Given the description of an element on the screen output the (x, y) to click on. 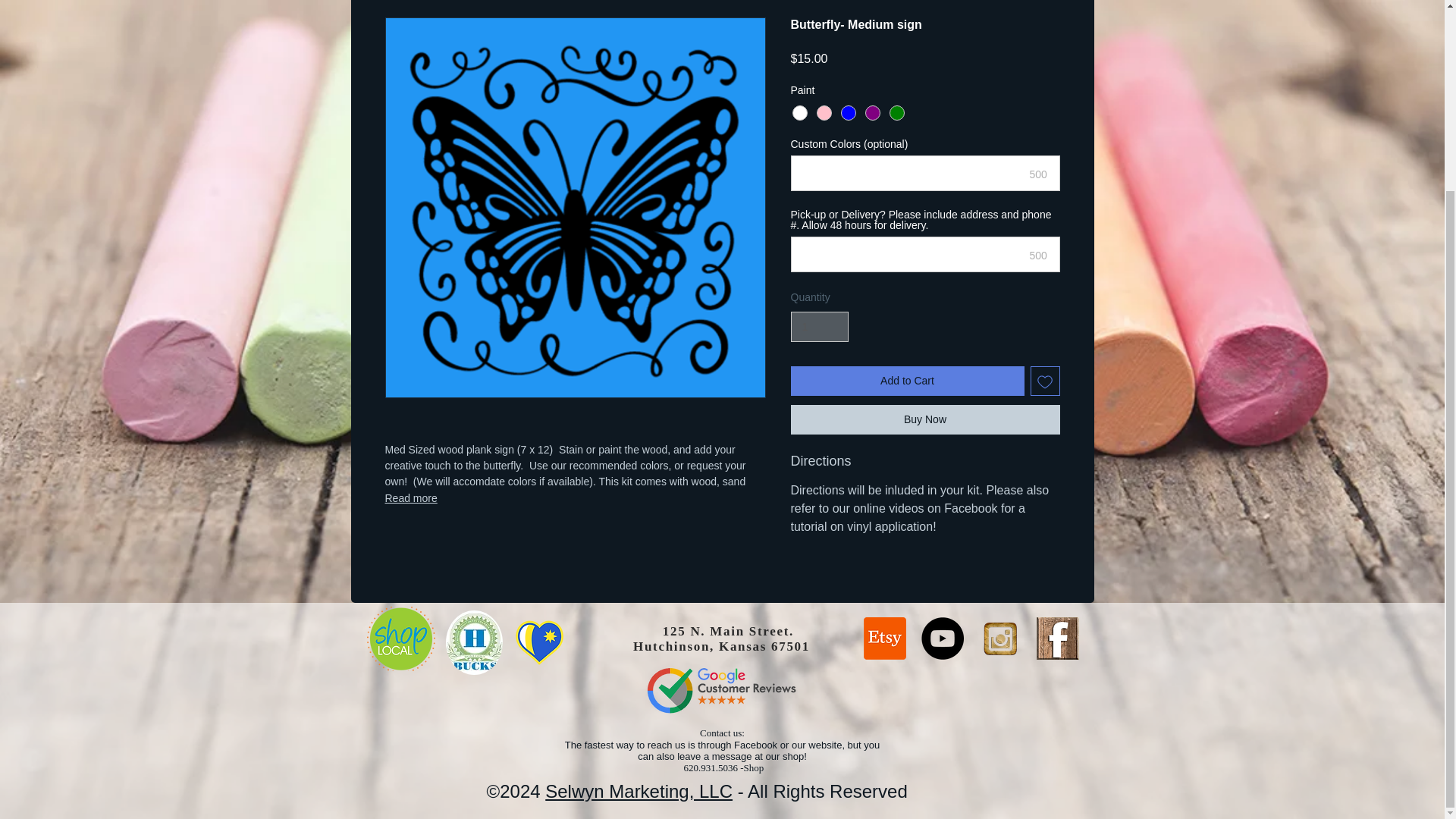
Buy Now (924, 419)
1 (818, 327)
Selwyn Marketing, LLC (638, 791)
Contact us: (722, 732)
Read more (574, 497)
Add to Cart (906, 380)
620.931.5036 -Shop (722, 767)
